Given the description of an element on the screen output the (x, y) to click on. 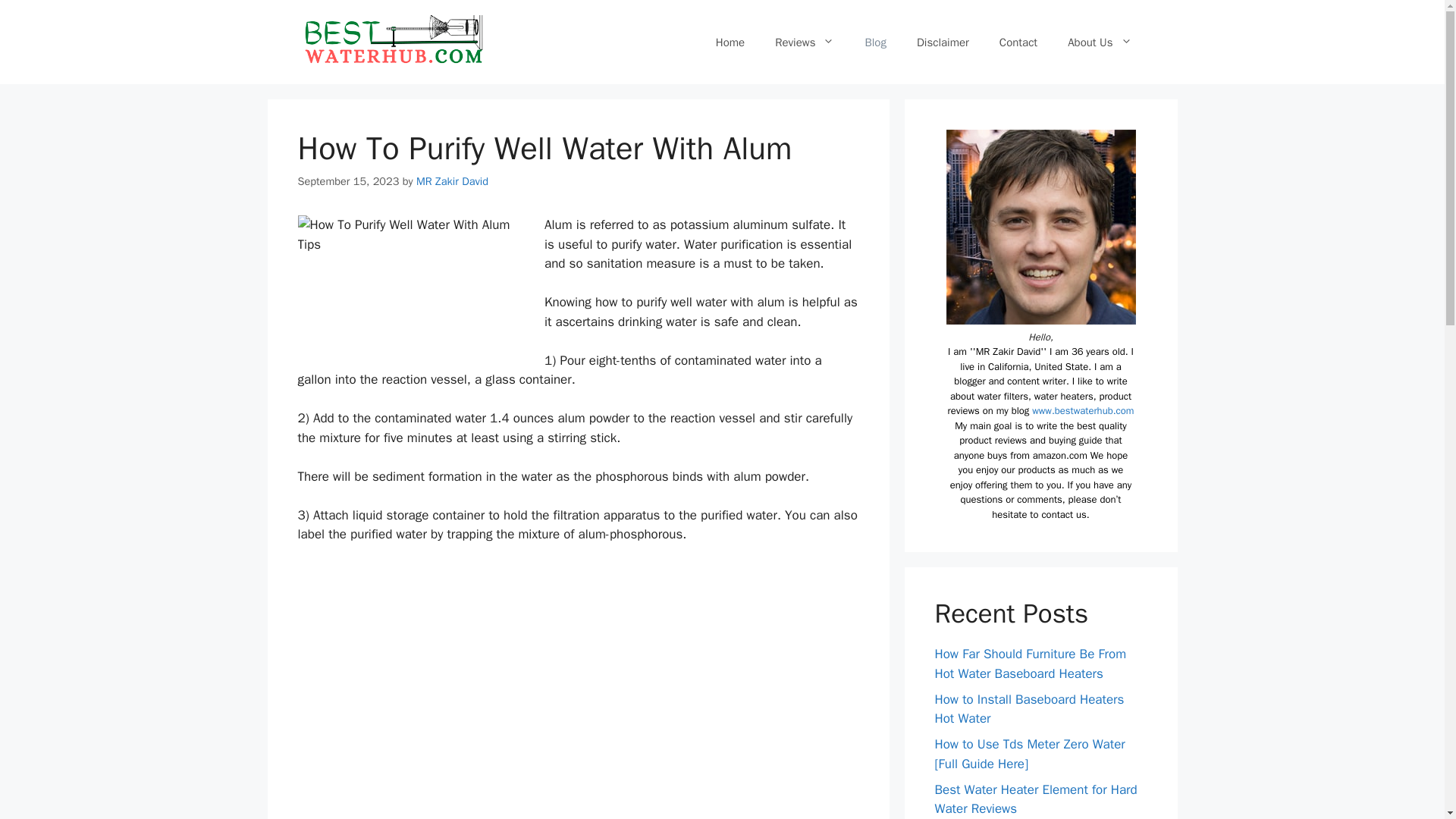
Reviews (804, 42)
Blog (874, 42)
How to Install Baseboard Heaters Hot Water (1029, 709)
About Us (1099, 42)
Disclaimer (942, 42)
Contact (1018, 42)
How Far Should Furniture Be From Hot Water Baseboard Heaters (1029, 663)
www.bestwaterhub.com (1083, 410)
Best Water Filter (391, 41)
Best Water Filter (391, 41)
View all posts by MR Zakir David (451, 181)
Home (730, 42)
Best Water Heater Element for Hard Water Reviews (1035, 798)
MR Zakir David (451, 181)
